Given the description of an element on the screen output the (x, y) to click on. 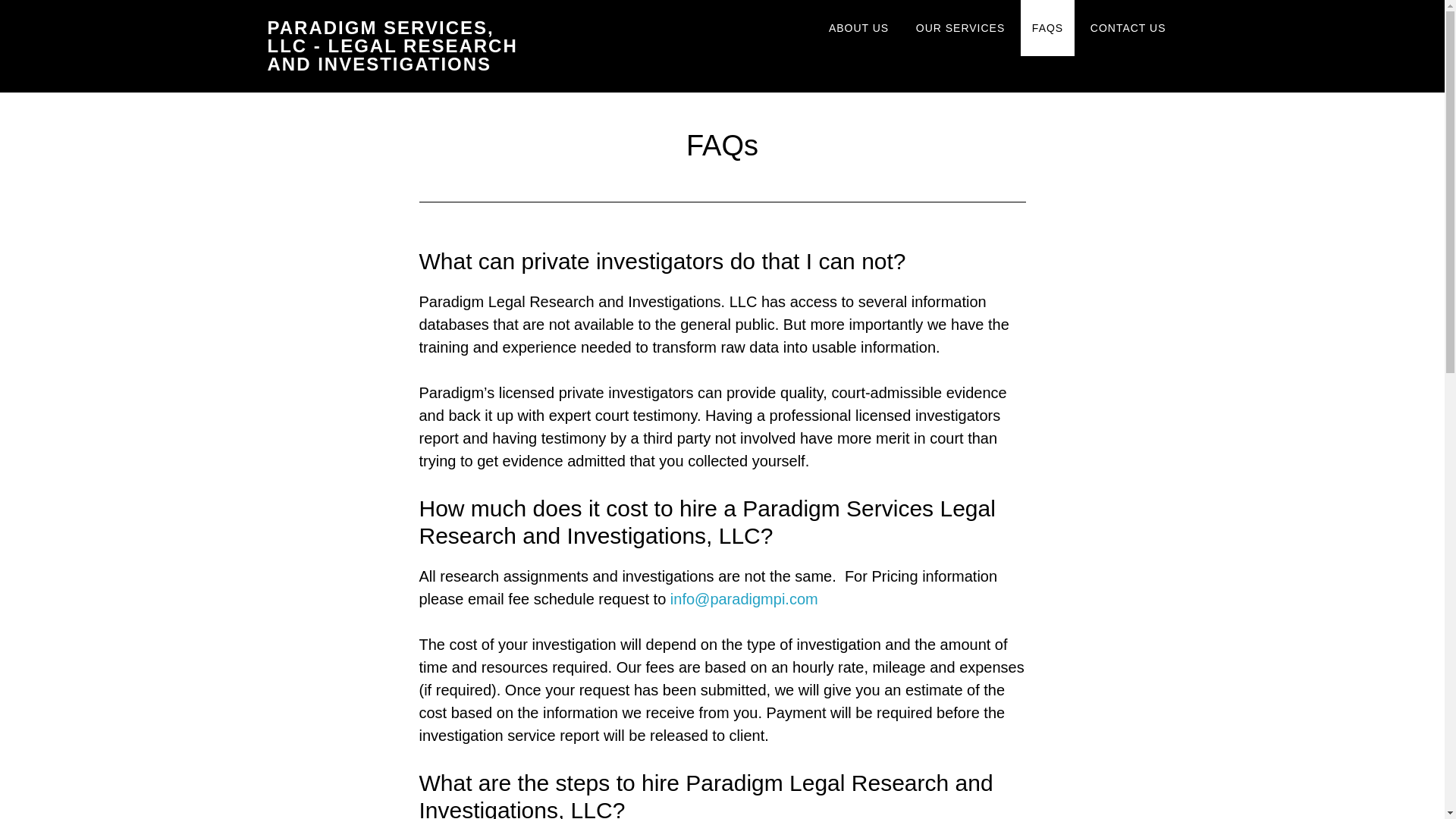
ABOUT US (857, 28)
CONTACT US (1127, 28)
FAQS (1047, 28)
PARADIGM SERVICES, LLC - LEGAL RESEARCH AND INVESTIGATIONS (391, 45)
OUR SERVICES (960, 28)
